Given the description of an element on the screen output the (x, y) to click on. 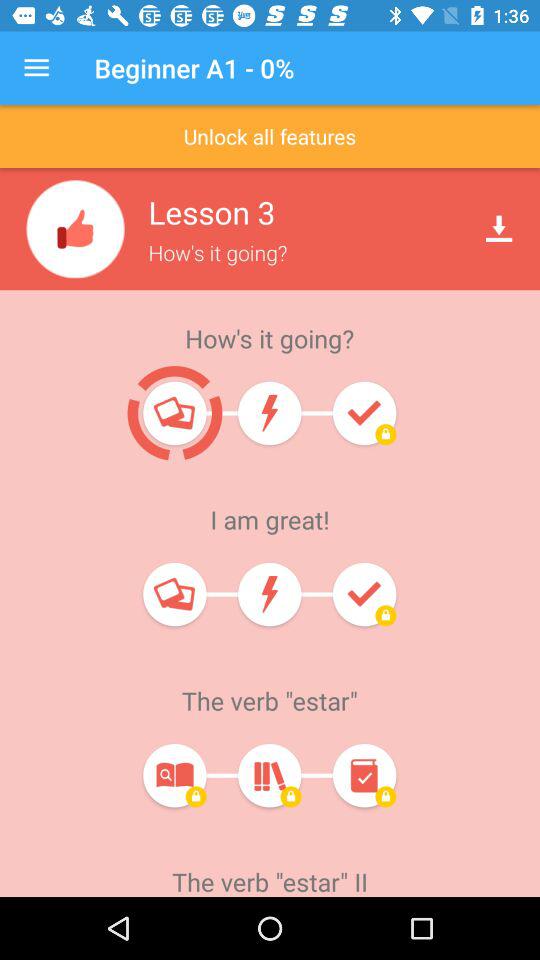
scroll until unlock all features icon (270, 136)
